Given the description of an element on the screen output the (x, y) to click on. 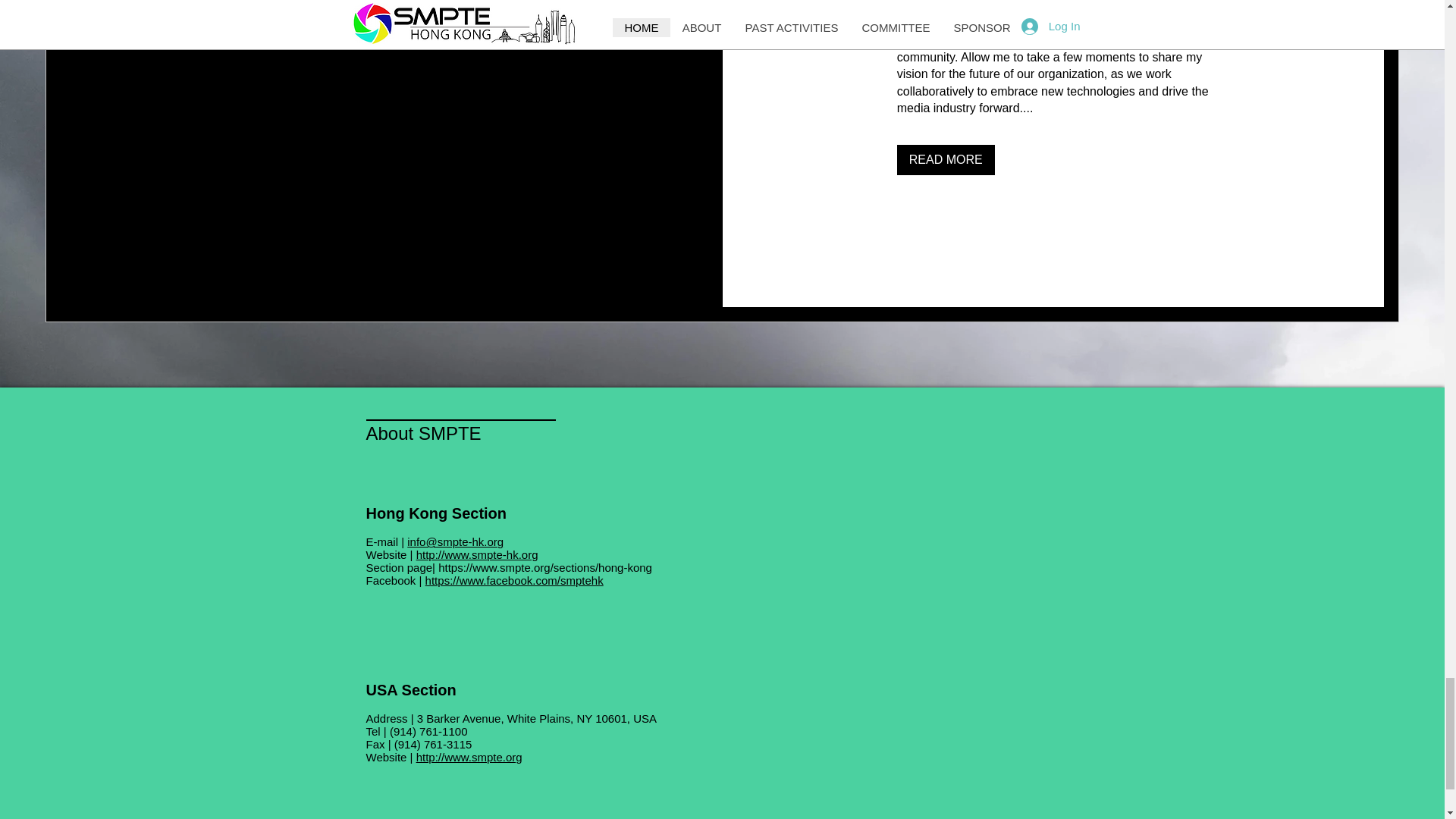
READ MORE (945, 159)
